Given the description of an element on the screen output the (x, y) to click on. 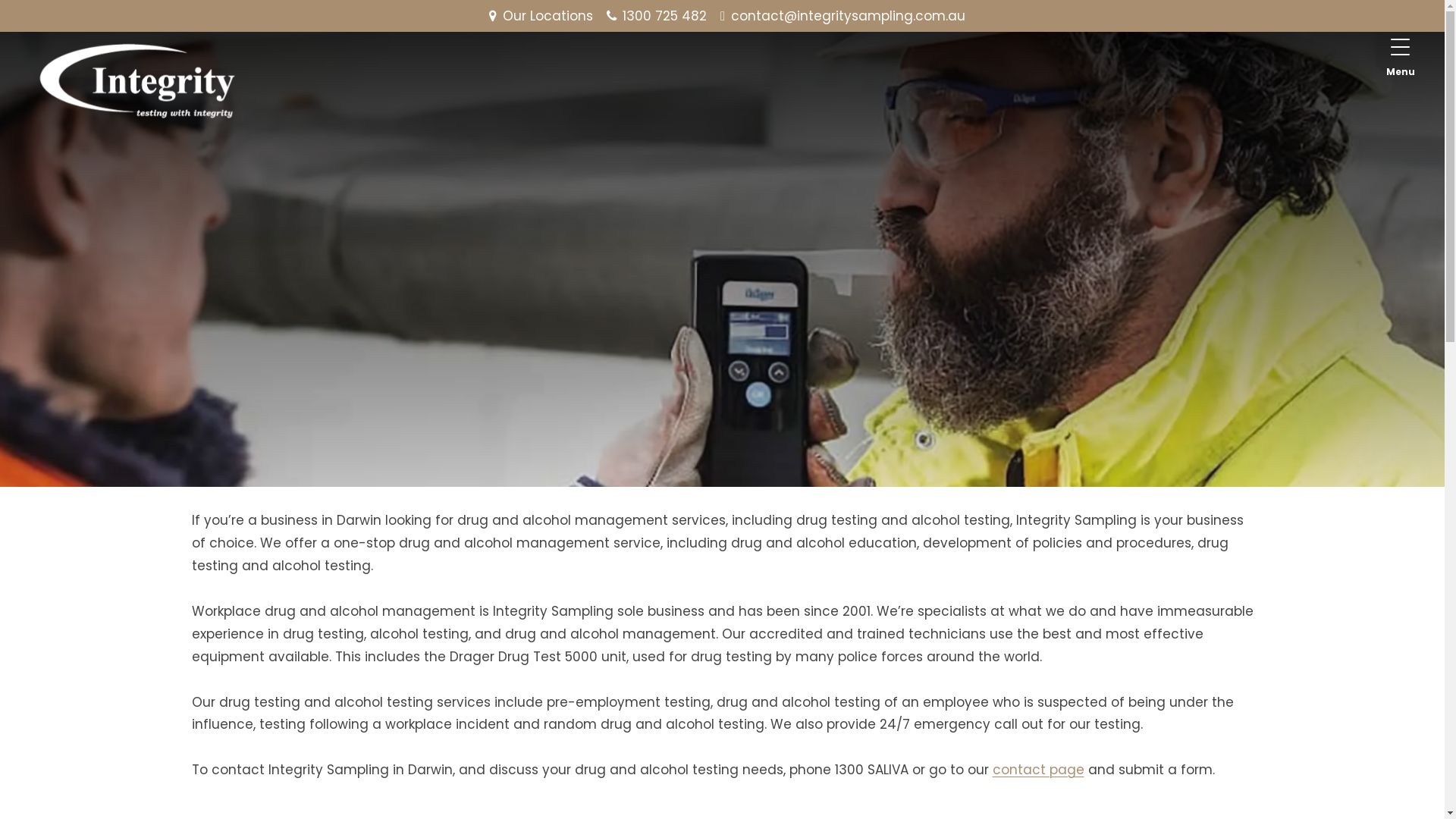
1300 725 482 Element type: text (664, 15)
Our Locations Element type: text (547, 15)
contact@integritysampling.com.au Element type: text (848, 15)
Menu Element type: text (1400, 56)
contact page Element type: text (1037, 769)
